Given the description of an element on the screen output the (x, y) to click on. 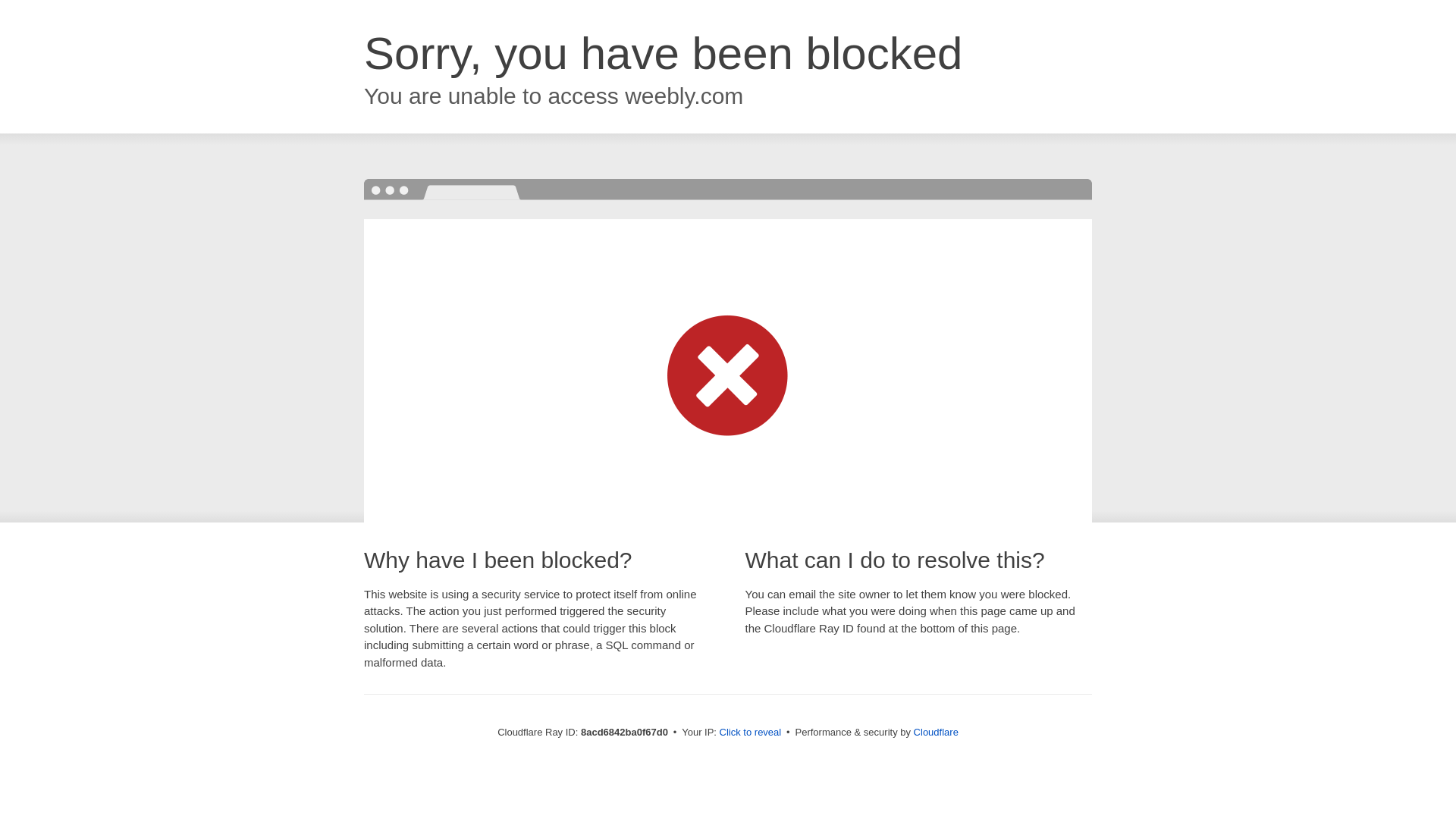
Click to reveal (750, 732)
Cloudflare (936, 731)
